Given the description of an element on the screen output the (x, y) to click on. 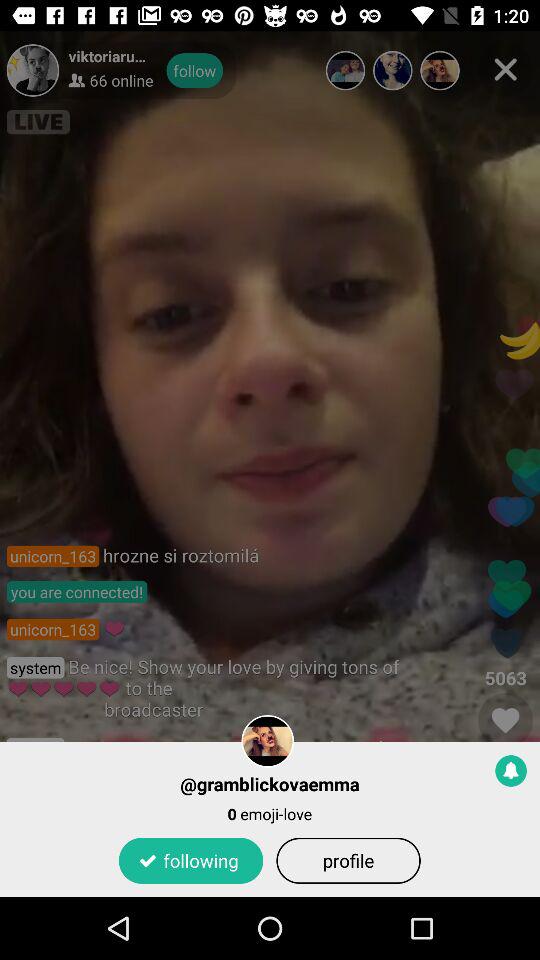
tap the icon below the 0 emoji-love item (348, 860)
